Given the description of an element on the screen output the (x, y) to click on. 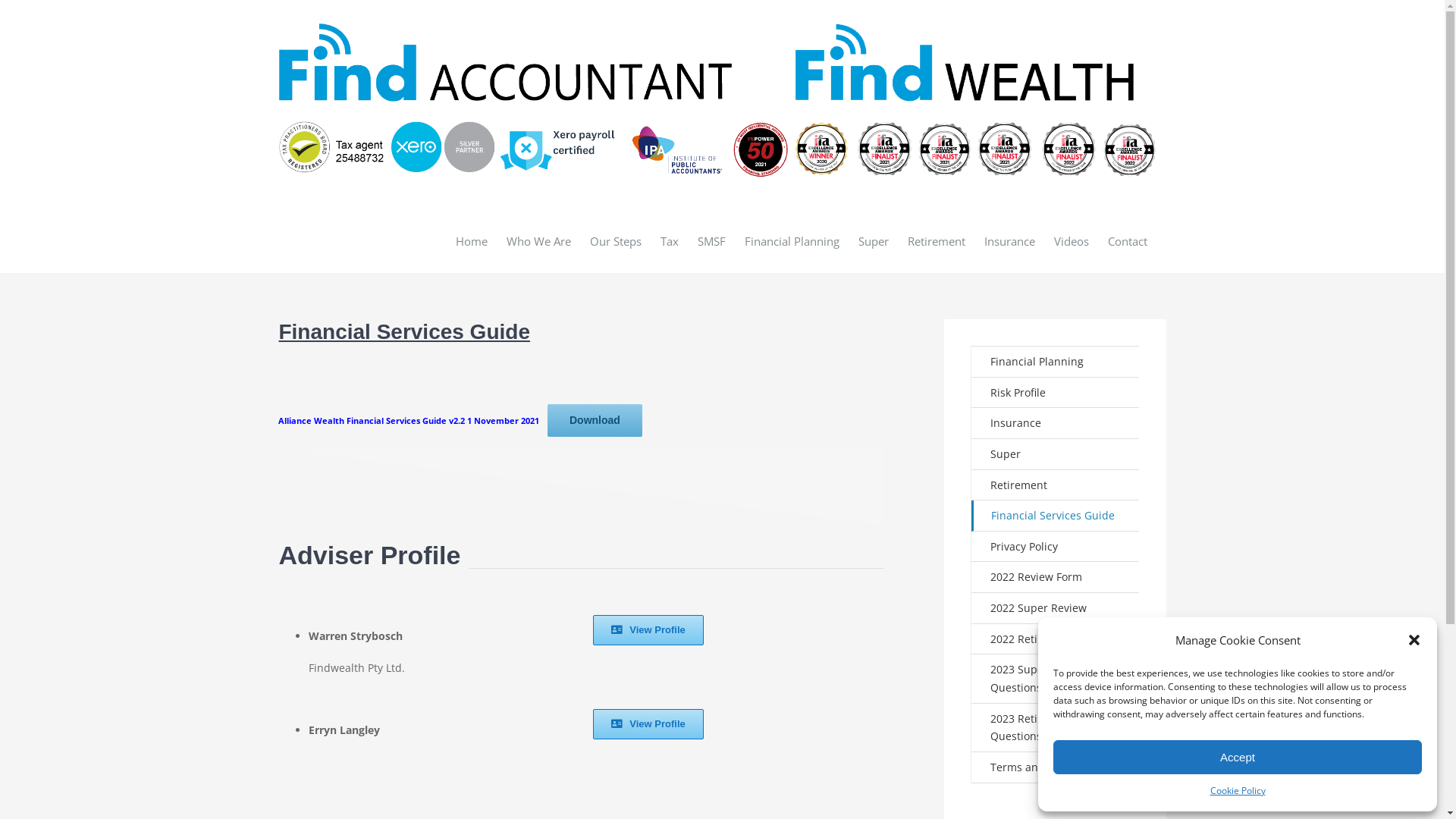
Tax Element type: text (668, 241)
Accept Element type: text (1237, 757)
Insurance Element type: text (1009, 241)
Retirement Element type: text (935, 241)
View Profile Element type: text (648, 724)
Super Element type: text (1055, 454)
Financial Planning Element type: text (791, 241)
Cookie Policy Element type: text (1237, 790)
Terms and Conditions Element type: text (1055, 767)
Financial Services Guide Element type: text (1055, 515)
Retirement Element type: text (1055, 485)
Privacy Policy Element type: text (1055, 546)
2023 Super Review Questions Element type: text (1055, 678)
Our Steps Element type: text (615, 241)
Home Element type: text (470, 241)
View Profile Element type: text (648, 630)
2022 Review Form Element type: text (1055, 577)
Contact Element type: text (1126, 241)
SMSF Element type: text (711, 241)
Videos Element type: text (1071, 241)
2023 Retirement Review Questions Element type: text (1055, 727)
Risk Profile Element type: text (1055, 392)
2022 Super Review Element type: text (1055, 608)
Insurance Element type: text (1055, 423)
Download Element type: text (594, 420)
Who We Are Element type: text (538, 241)
Super Element type: text (873, 241)
Financial Planning Element type: text (1055, 361)
2022 Retirement Review Element type: text (1055, 639)
